Given the description of an element on the screen output the (x, y) to click on. 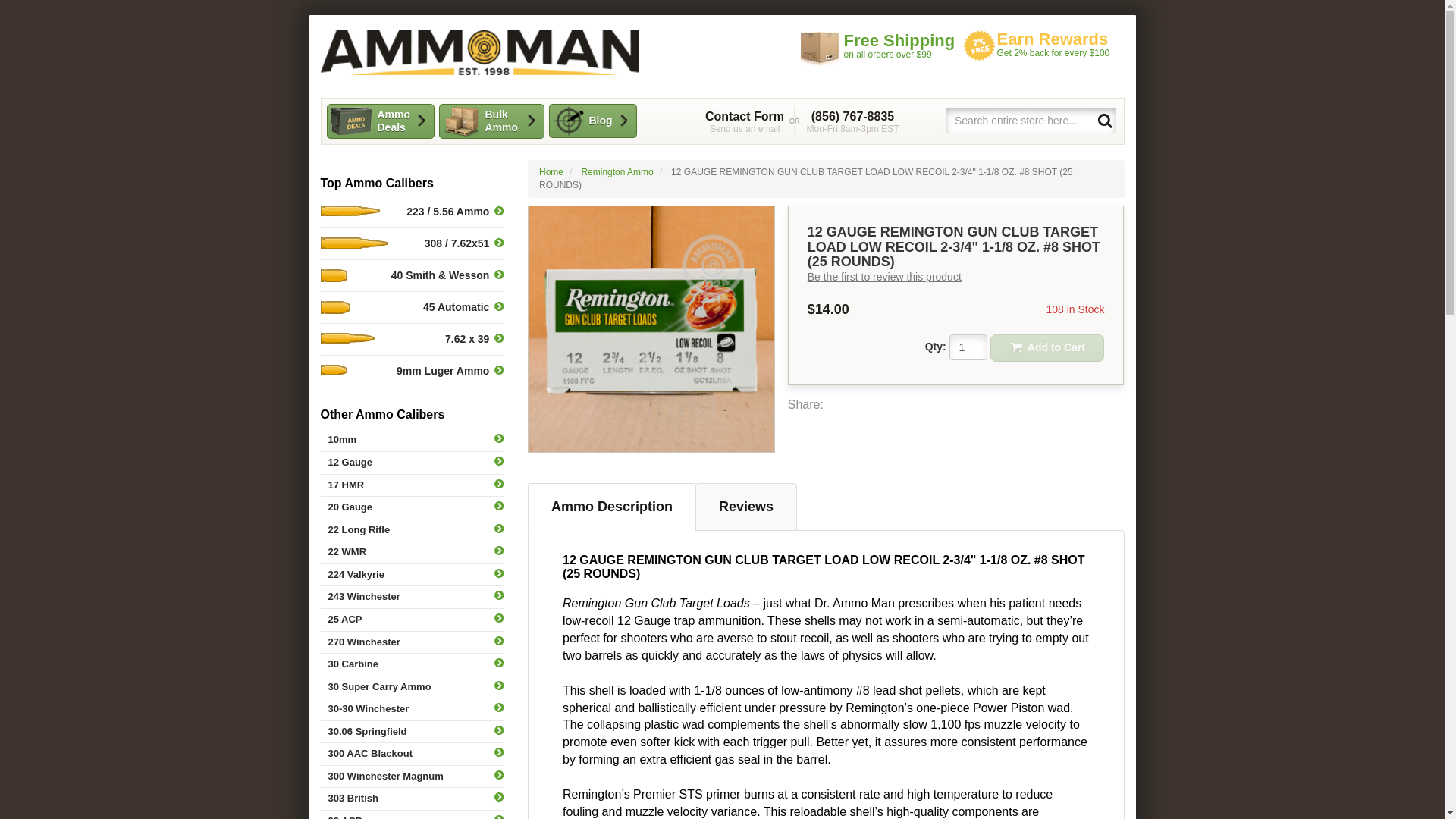
Bulk Ammo (490, 121)
Free Shipping on Bulk Ammo (879, 48)
9mm Luger Ammo (411, 370)
30.06 Springfield (411, 731)
22 Long Rifle (411, 530)
32 ACP (411, 814)
10mm Ammo (411, 440)
Discount Ammo Deals - Ammo on Sale (379, 121)
7.62 x 39 (411, 338)
270 Winchester (411, 641)
